Given the description of an element on the screen output the (x, y) to click on. 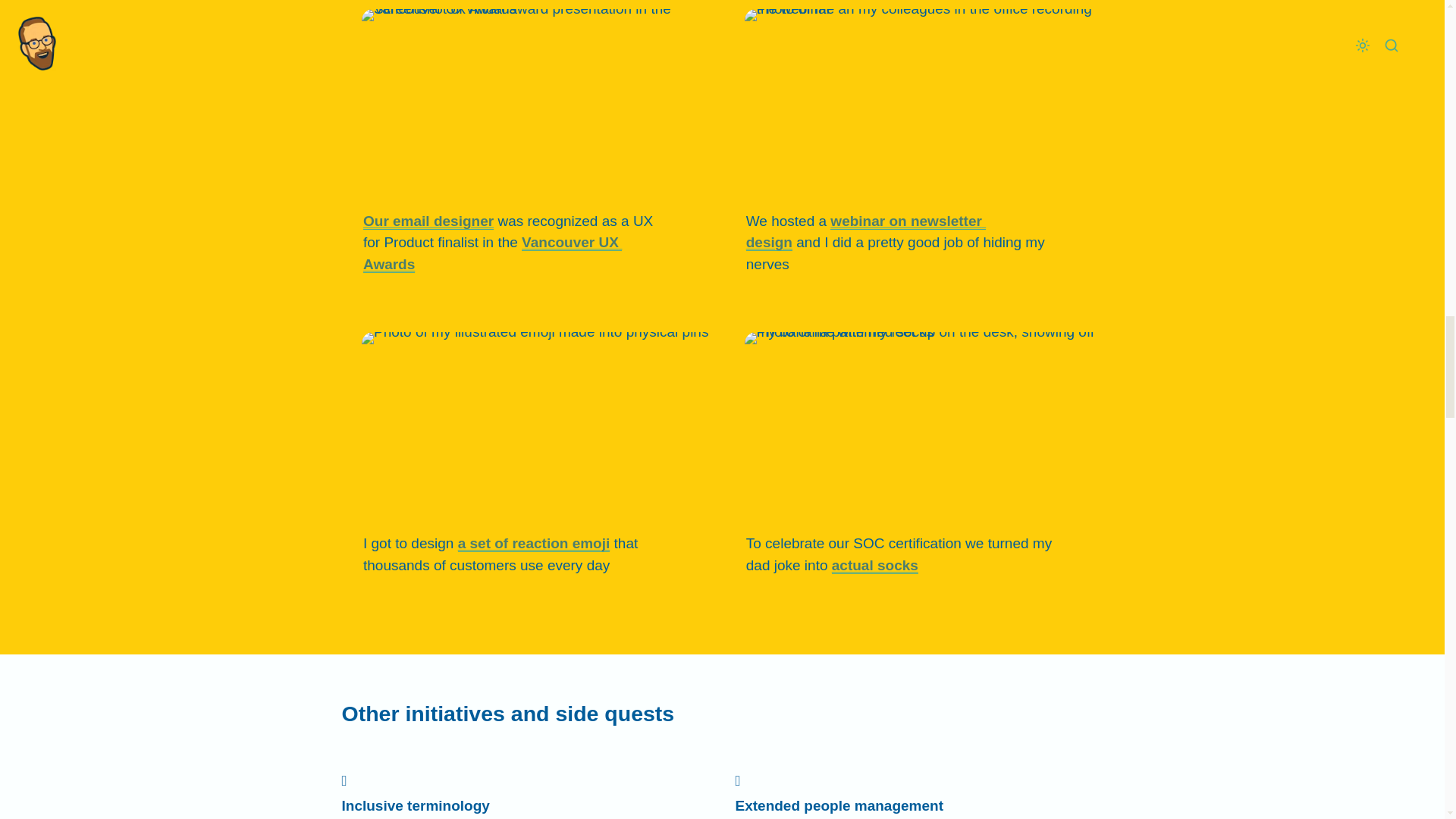
a set of reaction emoji (534, 543)
webinar on newsletter design (865, 231)
Our email designer (427, 221)
actual socks (874, 565)
Vancouver UX Awards (491, 253)
